Given the description of an element on the screen output the (x, y) to click on. 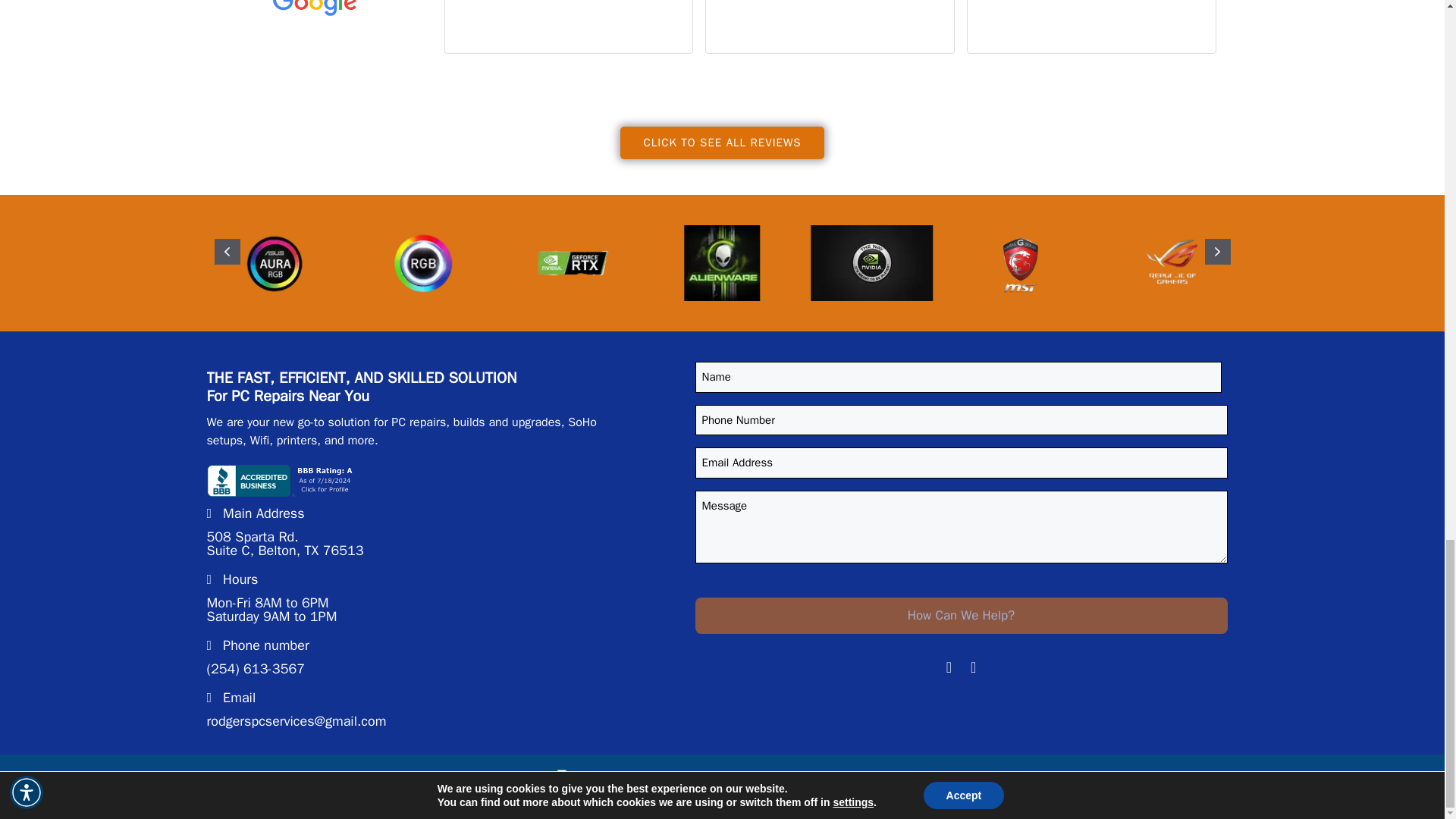
Hours (231, 581)
OMG National (595, 794)
CLICK TO SEE ALL REVIEWS (722, 142)
OMG National (856, 790)
OMG National (856, 790)
OMG National (595, 786)
How Can We Help? (960, 615)
Phone number (257, 647)
Main Address (255, 515)
Email (231, 699)
How Can We Help? (960, 615)
